Given the description of an element on the screen output the (x, y) to click on. 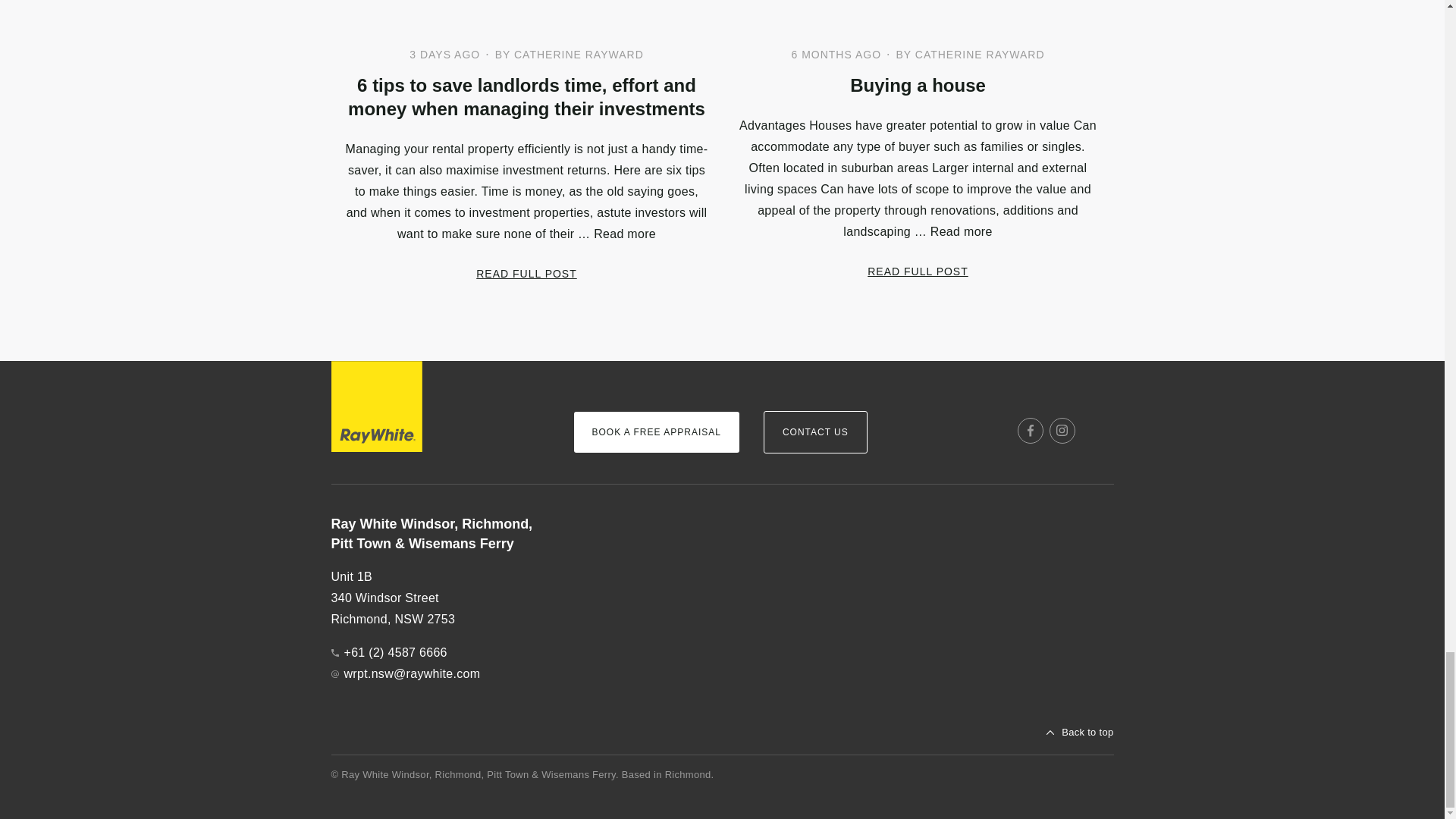
Facebook (1030, 430)
Buying a house (916, 85)
READ FULL POST (526, 273)
READ FULL POST (917, 270)
Instagram (1062, 430)
CONTACT US (814, 432)
Back to top (1079, 732)
BOOK A FREE APPRAISAL (655, 431)
Ray White (376, 406)
